Given the description of an element on the screen output the (x, y) to click on. 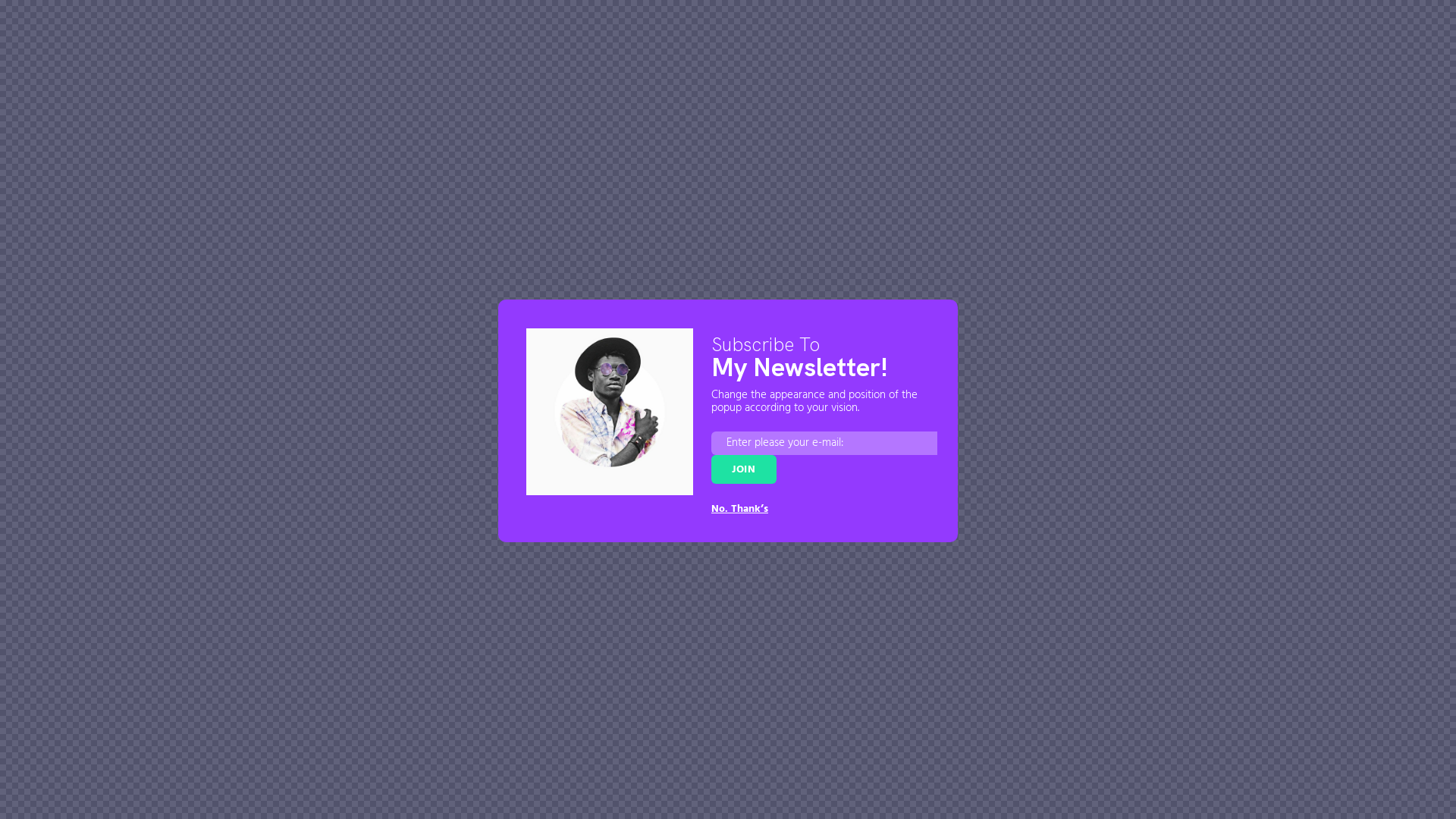
JOIN Element type: text (743, 469)
